Given the description of an element on the screen output the (x, y) to click on. 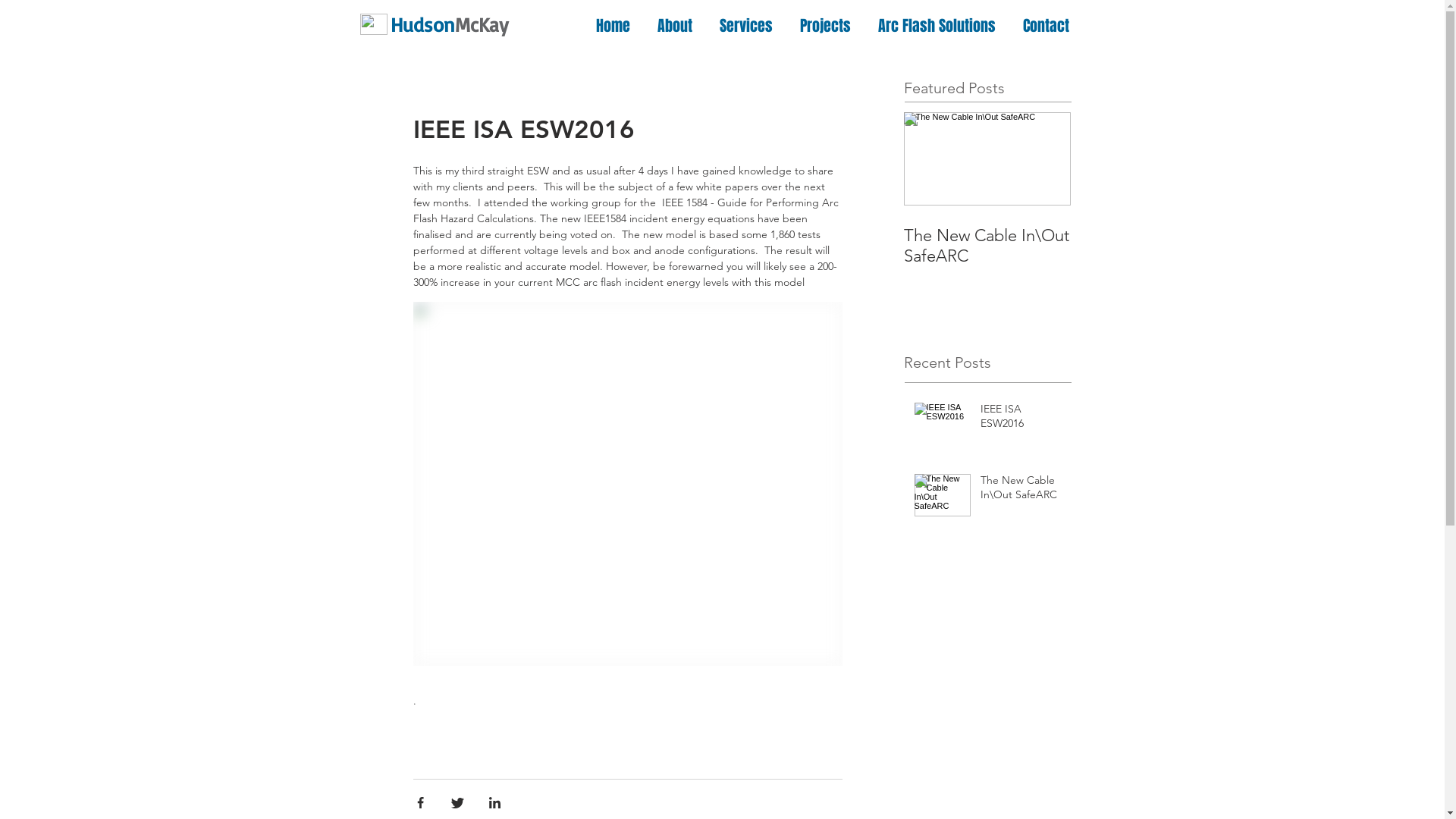
Projects Element type: text (827, 26)
Services Element type: text (748, 26)
Contact Element type: text (1048, 26)
Arc Flash Solutions Element type: text (938, 26)
The New Cable In\Out SafeARC Element type: text (1020, 490)
About Element type: text (677, 26)
The New Cable In\Out SafeARC Element type: text (986, 245)
IEEE ISA ESW2016 Element type: text (1020, 419)
Home Element type: text (614, 26)
